Given the description of an element on the screen output the (x, y) to click on. 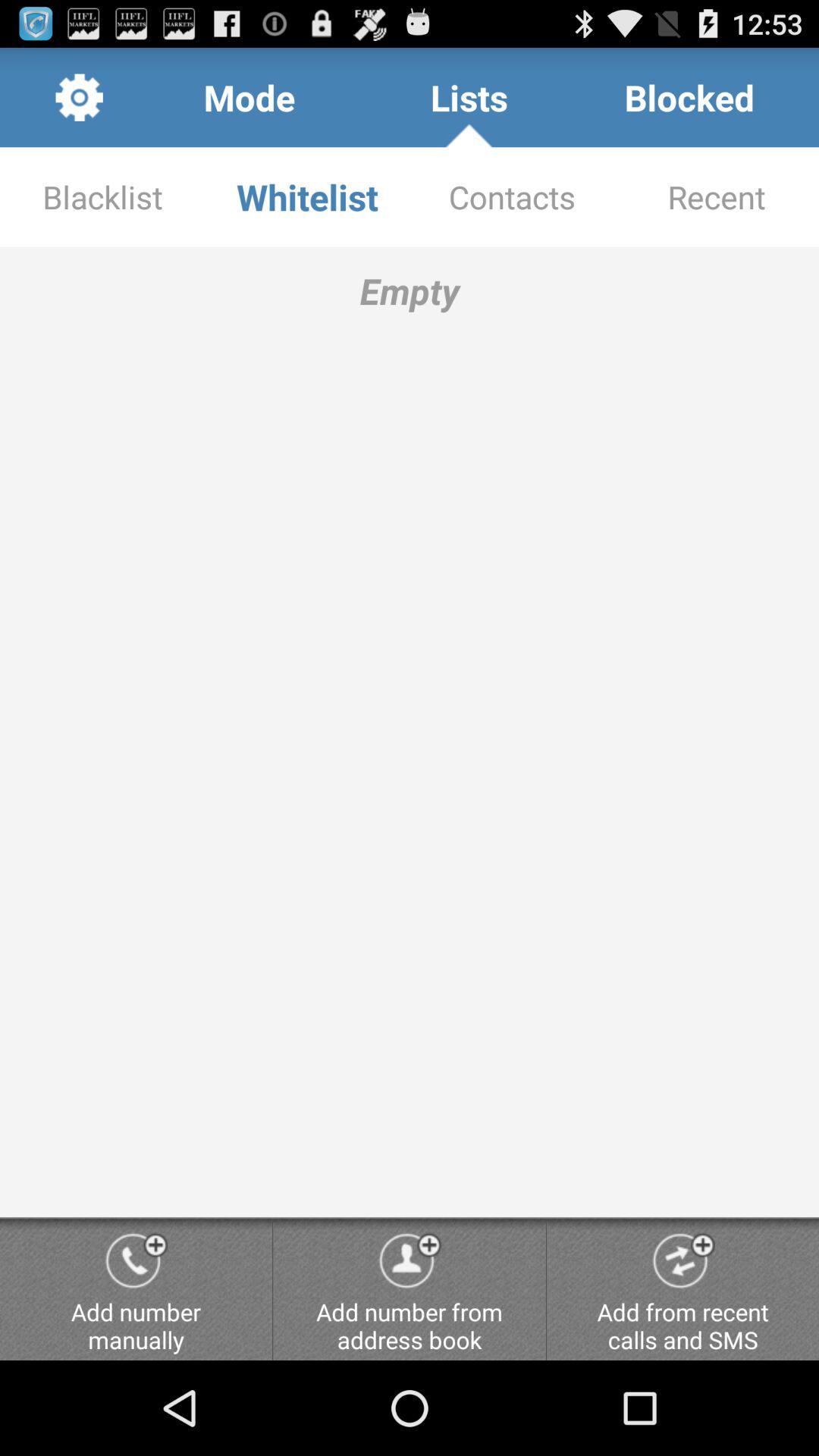
select app next to the contacts item (306, 196)
